Given the description of an element on the screen output the (x, y) to click on. 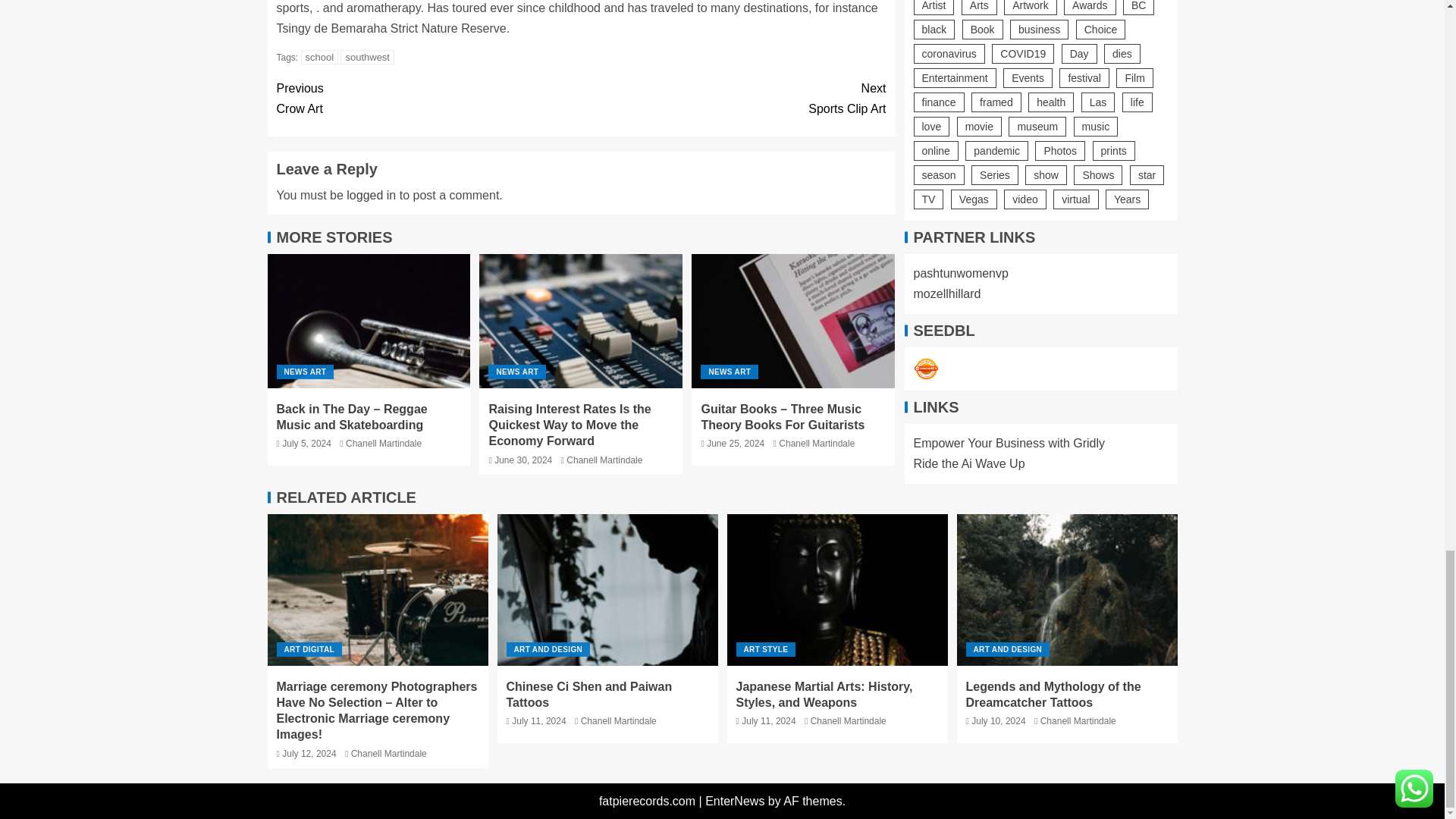
southwest (367, 56)
logged in (371, 195)
school (428, 97)
